Given the description of an element on the screen output the (x, y) to click on. 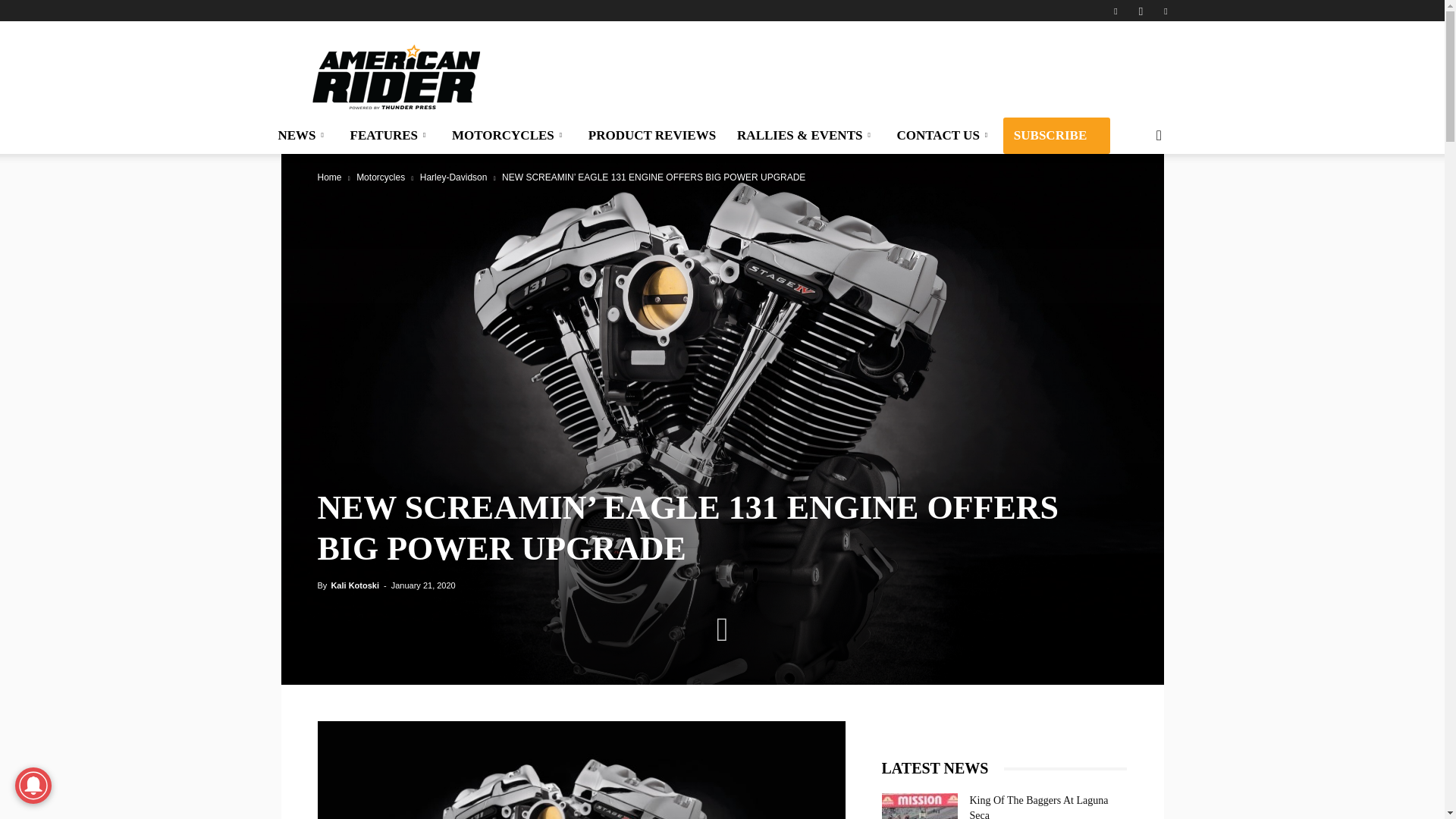
Instagram (1140, 10)
Facebook (1114, 10)
Youtube (1165, 10)
View all posts in Harley-Davidson (453, 176)
View all posts in Motorcycles (380, 176)
